Given the description of an element on the screen output the (x, y) to click on. 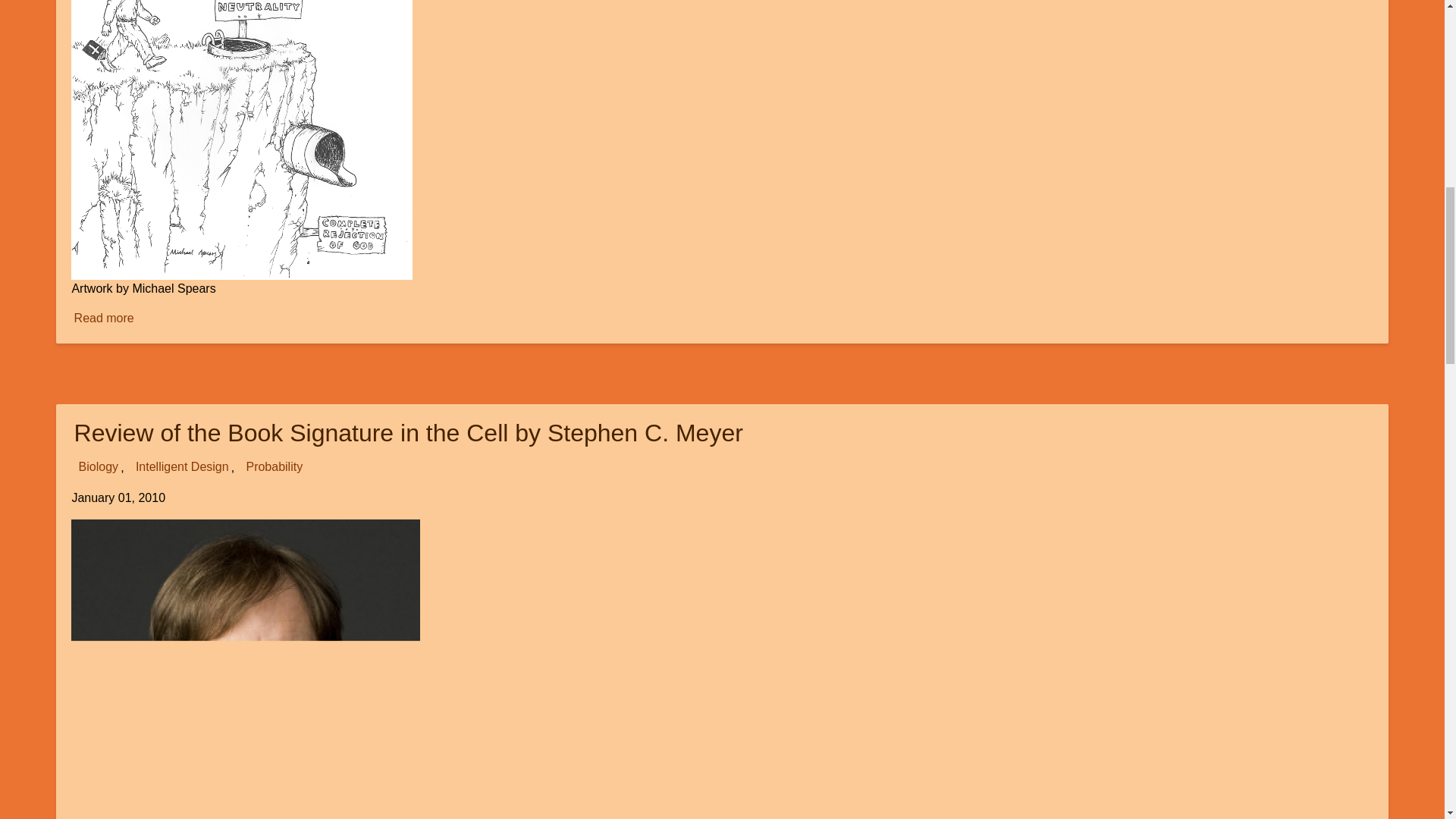
Intelligent Design (182, 466)
Review of the Book Signature in the Cell by Stephen C. Meyer (408, 431)
Does "Neutral Ground" Really Exist? (103, 317)
Stephen C. Meyer (103, 317)
Biology (245, 669)
